Given the description of an element on the screen output the (x, y) to click on. 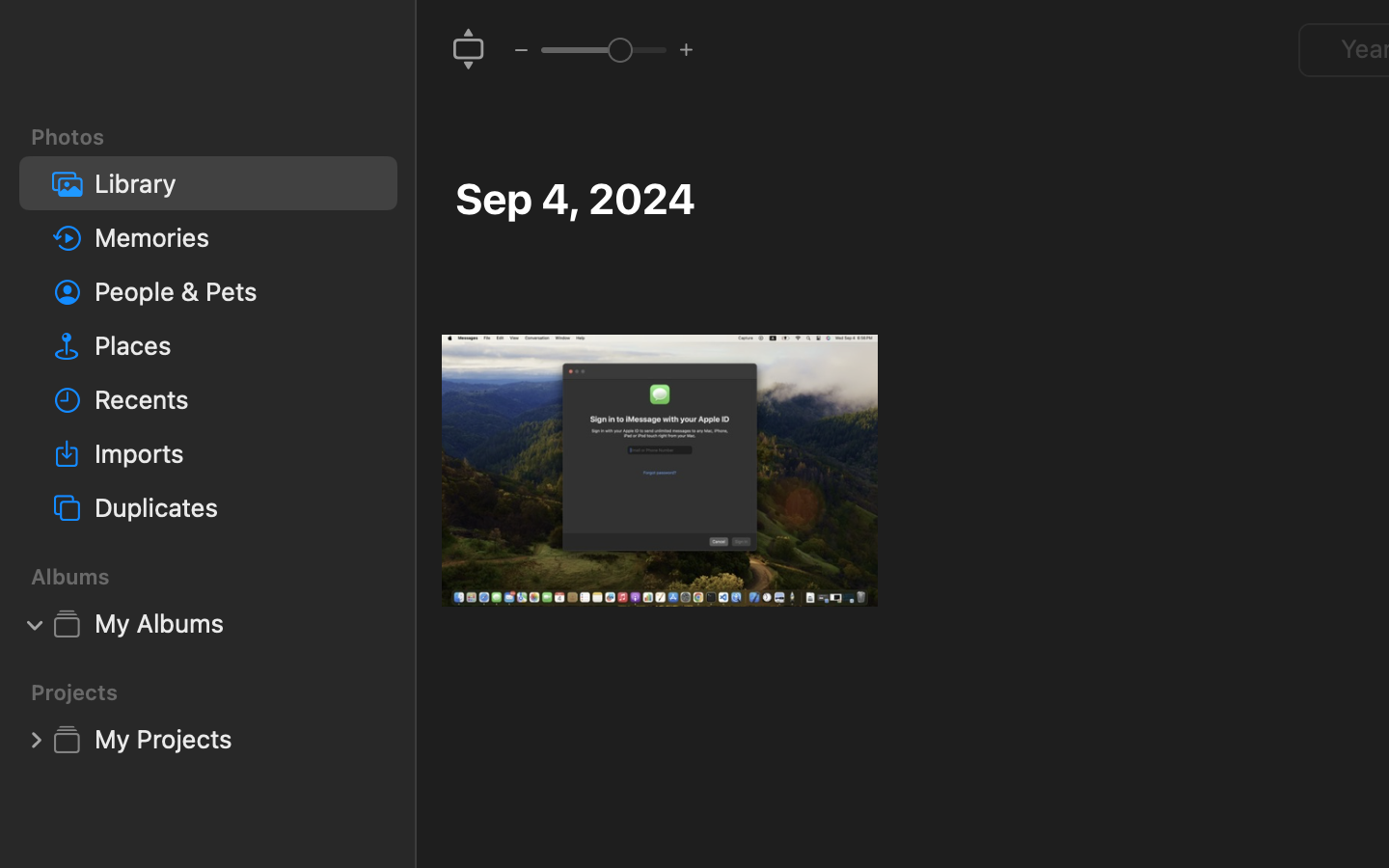
Duplicates Element type: AXStaticText (237, 506)
